Given the description of an element on the screen output the (x, y) to click on. 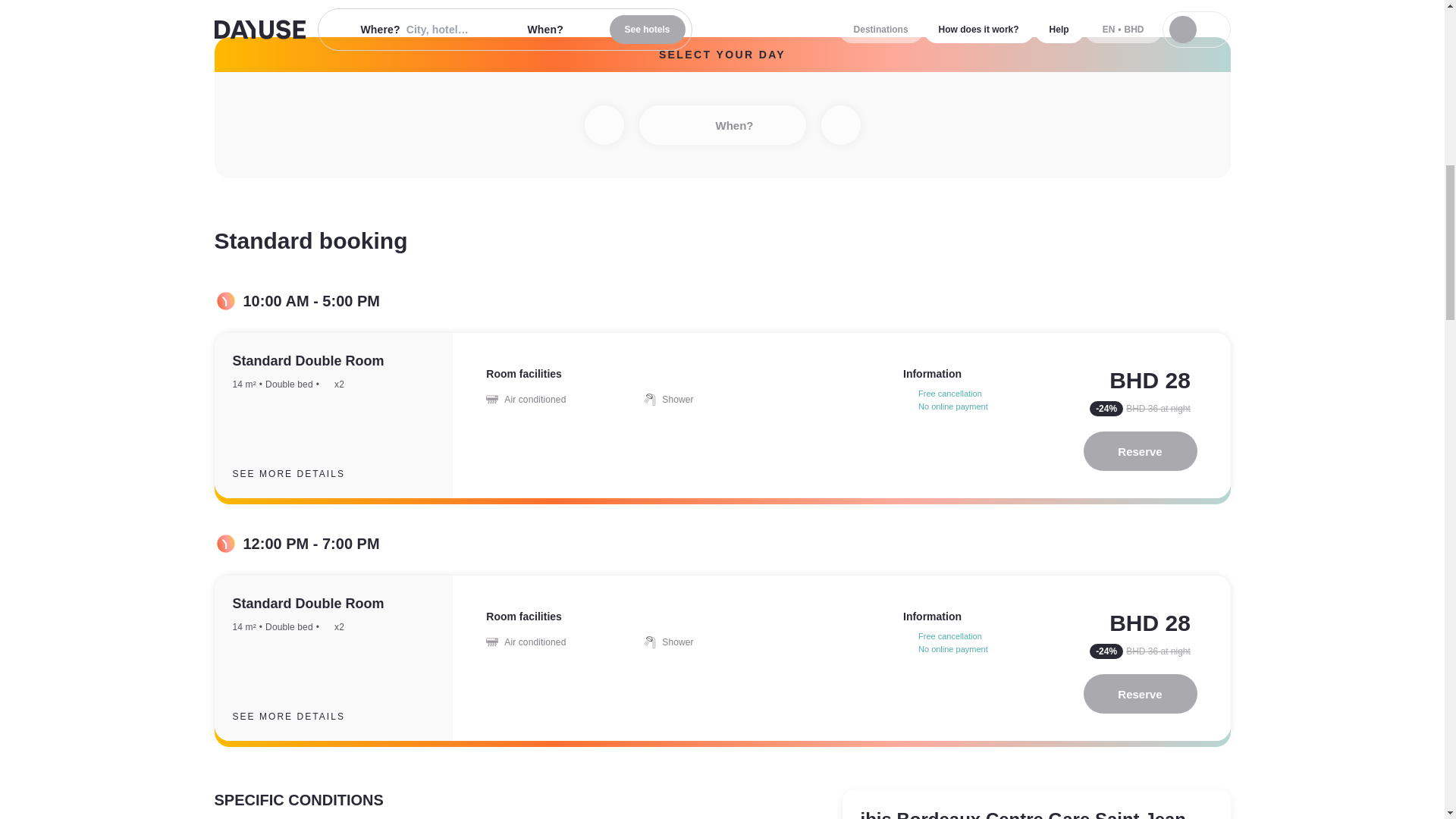
Reserve (1139, 450)
When? (722, 124)
SEE MORE DETAILS (300, 716)
SEE MORE DETAILS (300, 474)
Reserve (1139, 693)
Previous day (603, 124)
Next day (840, 124)
